Given the description of an element on the screen output the (x, y) to click on. 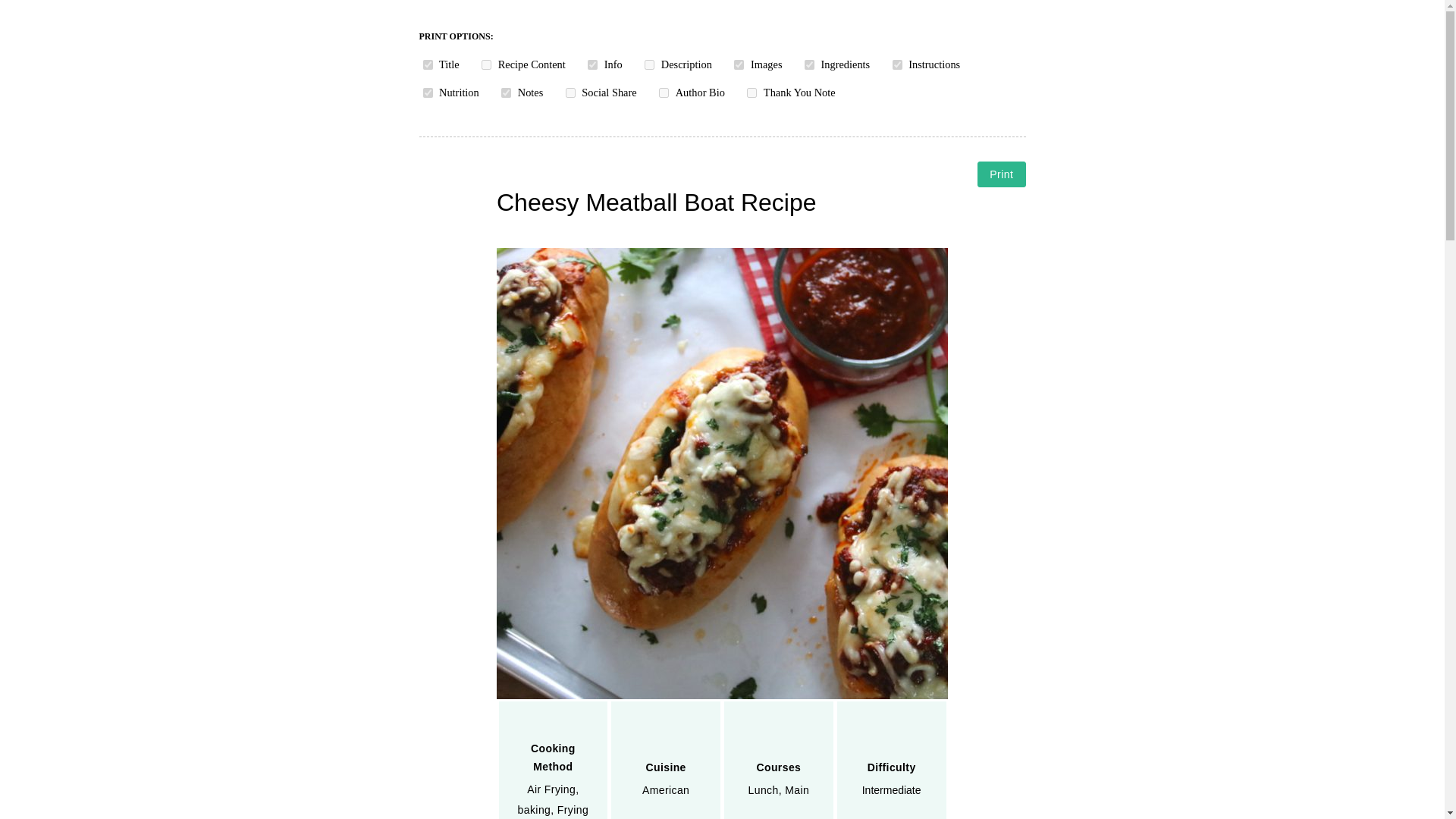
1 (427, 64)
Frying (572, 809)
1 (592, 64)
1 (486, 64)
1 (570, 92)
baking (534, 809)
1 (505, 92)
Air Frying (551, 788)
1 (427, 92)
